Given the description of an element on the screen output the (x, y) to click on. 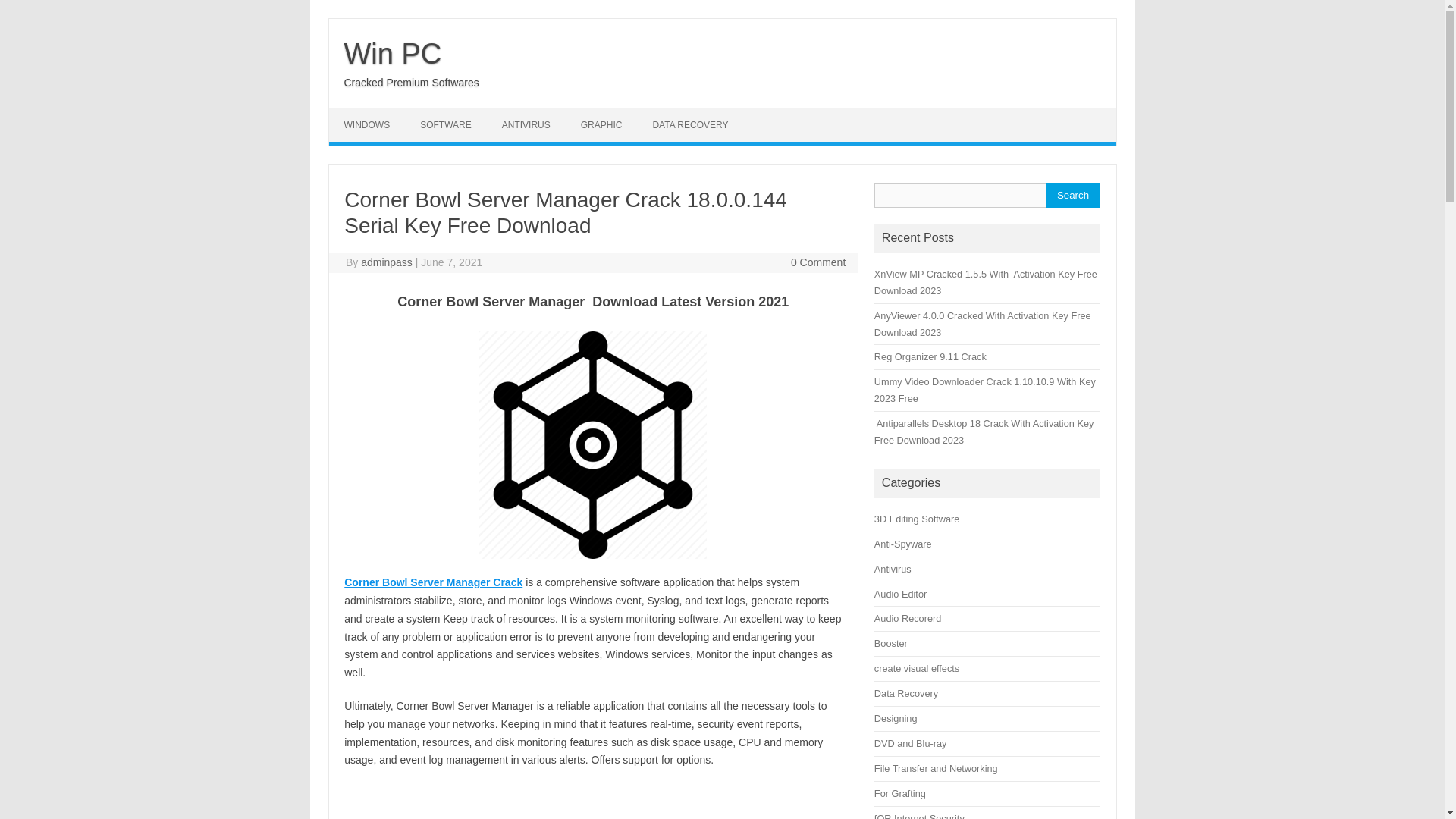
Cracked Premium Softwares (411, 82)
Audio Editor (900, 593)
3D Editing Software (917, 518)
0 Comment (817, 262)
Win PC (392, 53)
Search (1072, 195)
Antivirus (893, 568)
DATA RECOVERY (689, 124)
Reg Organizer 9.11 Crack (931, 356)
ANTIVIRUS (526, 124)
